Given the description of an element on the screen output the (x, y) to click on. 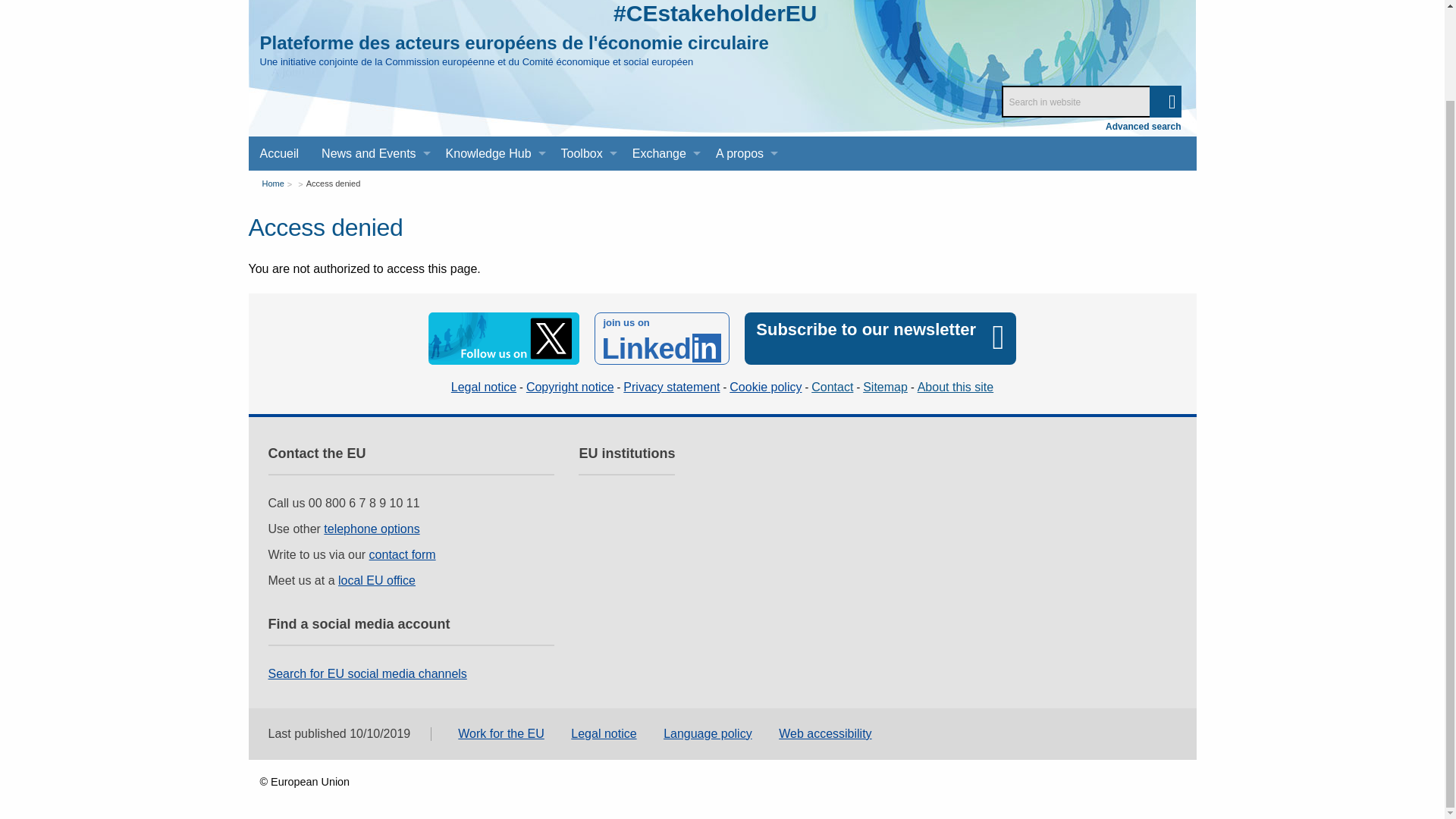
Exchange (662, 153)
Accueil (279, 153)
Advanced search (1142, 126)
News and Events (371, 153)
Toolbox (585, 153)
search the database (1165, 101)
News and Events (371, 153)
Toolbox (585, 153)
Accueil (279, 153)
Search (1165, 101)
